Given the description of an element on the screen output the (x, y) to click on. 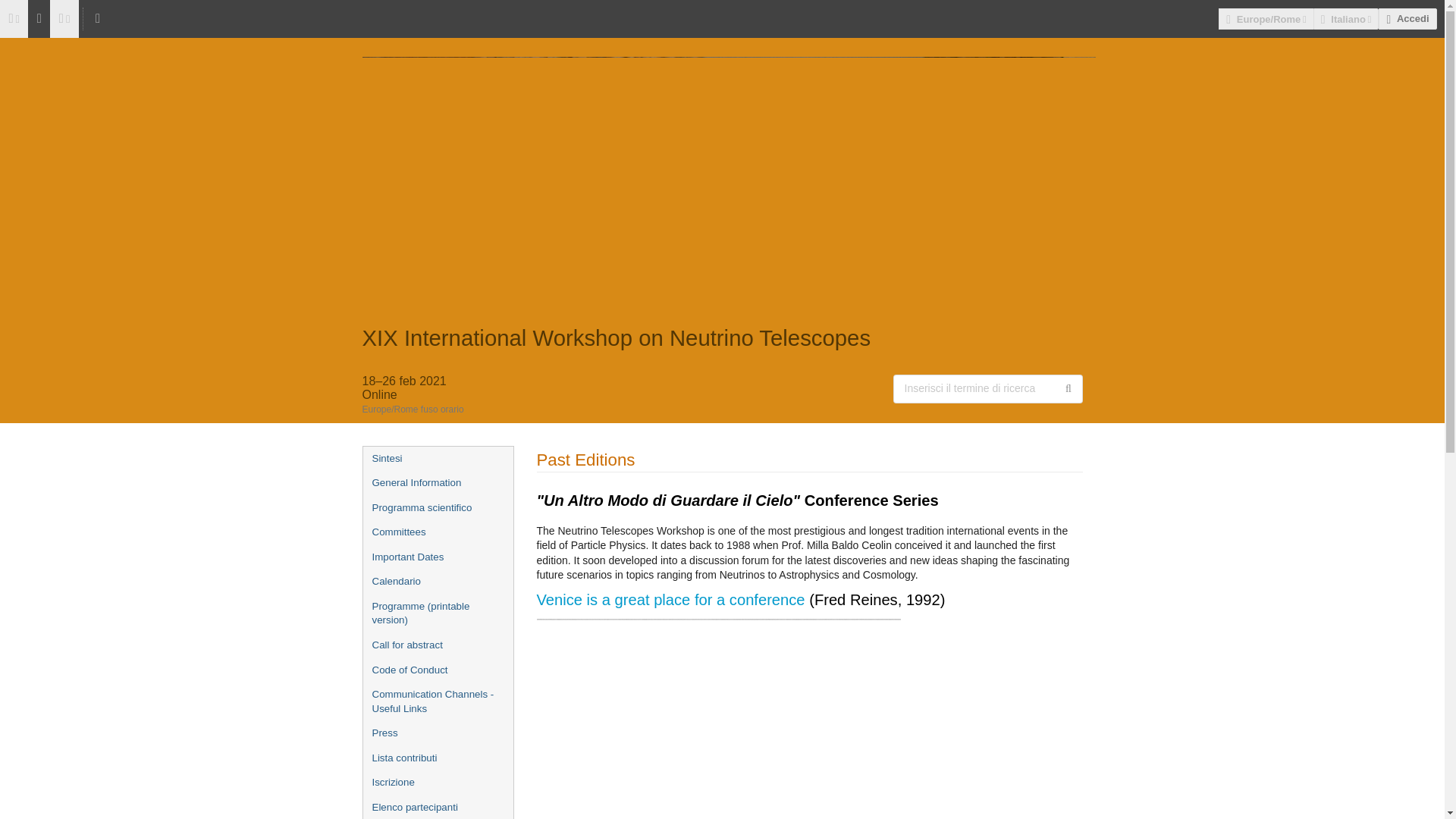
Code of Conduct (437, 670)
Communication Channels - Useful Links (437, 701)
Committees (437, 532)
Press (437, 733)
Call for abstract (437, 645)
General Information (437, 483)
Italiano (1345, 19)
Accedi (1406, 19)
Calendario (437, 581)
